Given the description of an element on the screen output the (x, y) to click on. 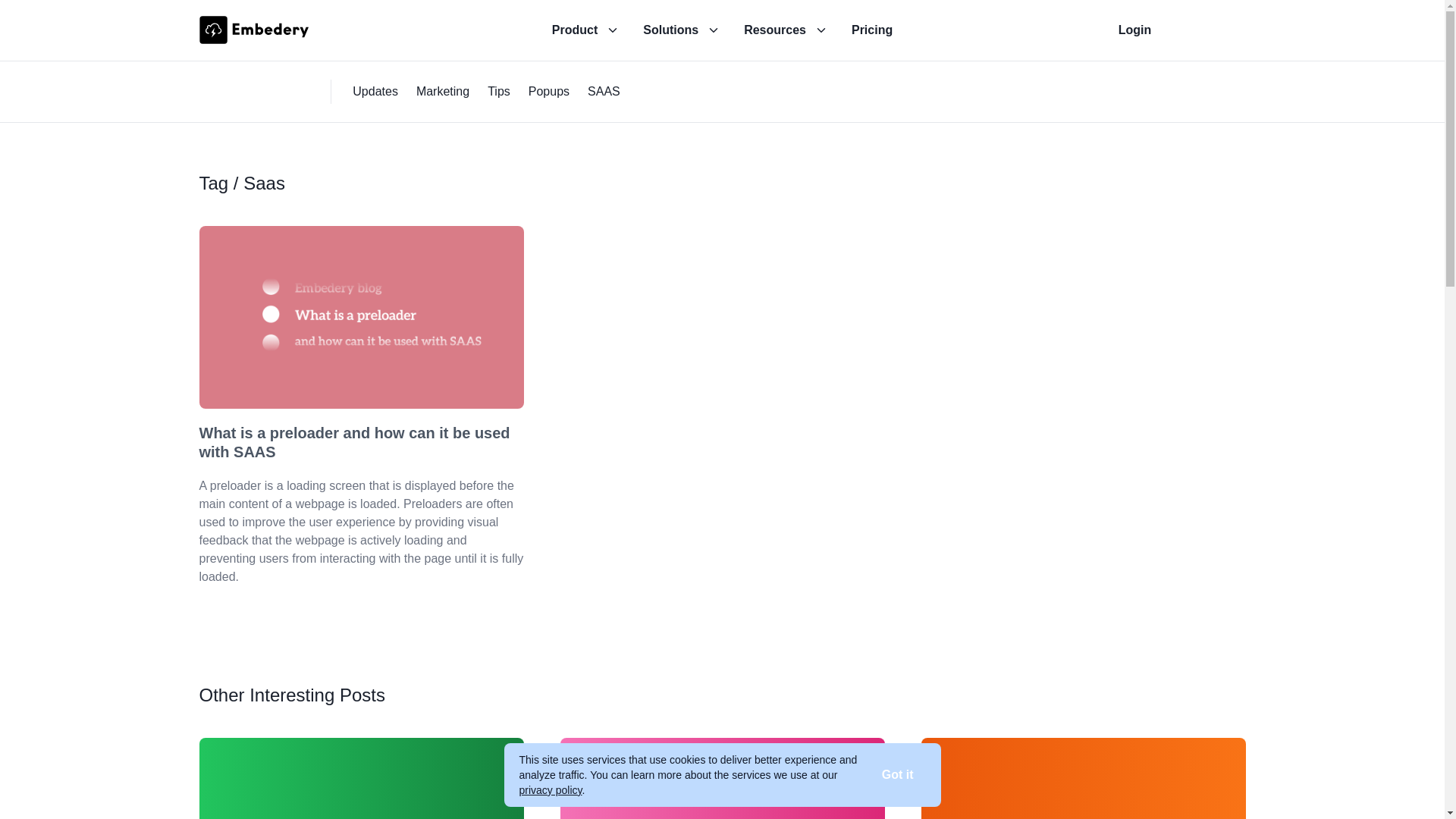
Pricing (872, 30)
Popups (548, 91)
Updates (375, 91)
Back to Blog (256, 91)
Login (1134, 30)
Tips (498, 91)
SAAS (603, 91)
Sign up (1209, 30)
Marketing (443, 91)
